Given the description of an element on the screen output the (x, y) to click on. 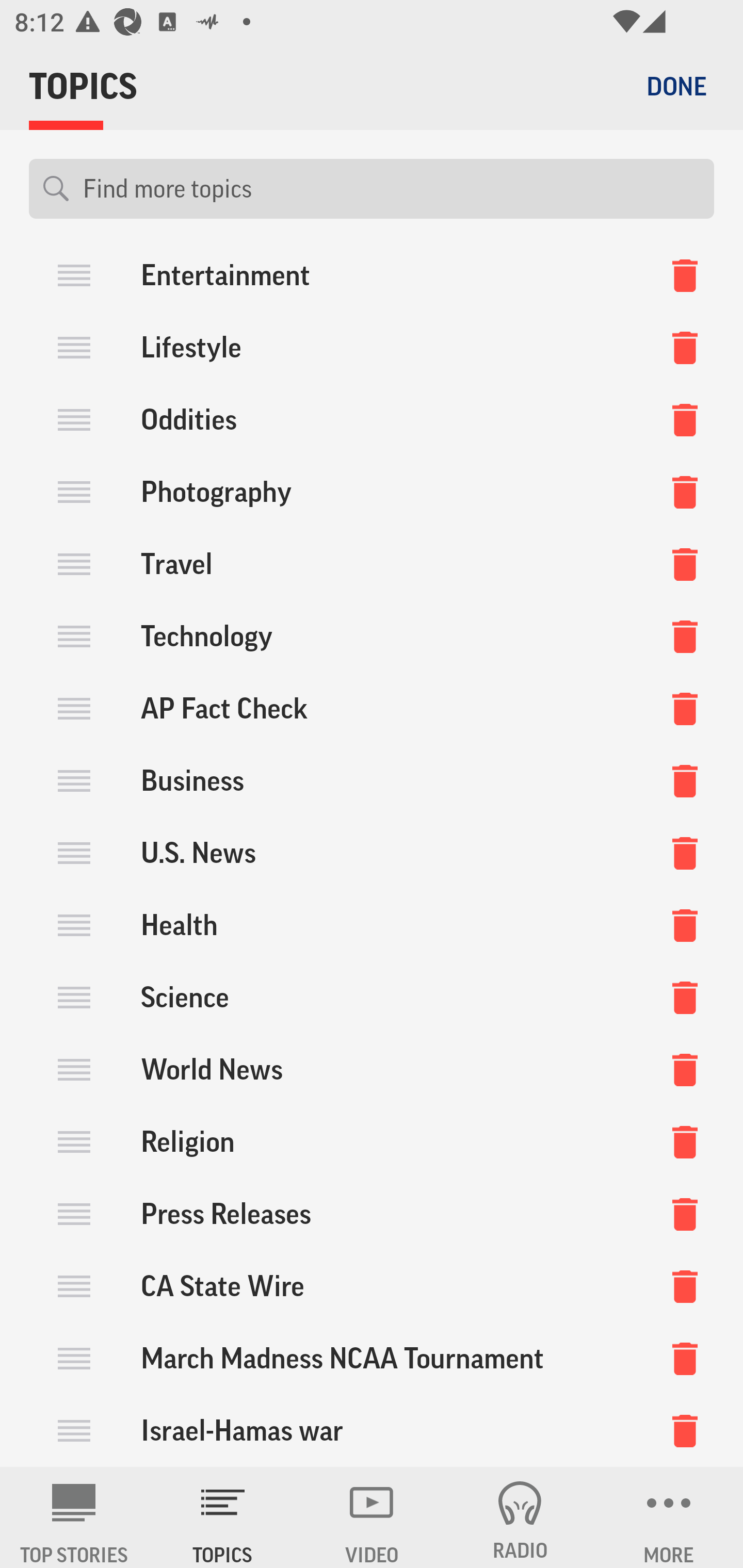
DONE (676, 86)
Find more topics (391, 188)
Entertainment (371, 279)
Lifestyle (371, 348)
Oddities (371, 420)
Photography (371, 492)
Travel (371, 564)
Technology (371, 636)
AP Fact Check (371, 708)
Business (371, 780)
U.S. News (371, 852)
Health (371, 925)
Science (371, 997)
World News (371, 1069)
Religion (371, 1141)
Press Releases (371, 1213)
CA State Wire (371, 1285)
March Madness NCAA Tournament (371, 1357)
Israel-Hamas war (371, 1430)
AP News TOP STORIES (74, 1517)
TOPICS (222, 1517)
VIDEO (371, 1517)
RADIO (519, 1517)
MORE (668, 1517)
